Given the description of an element on the screen output the (x, y) to click on. 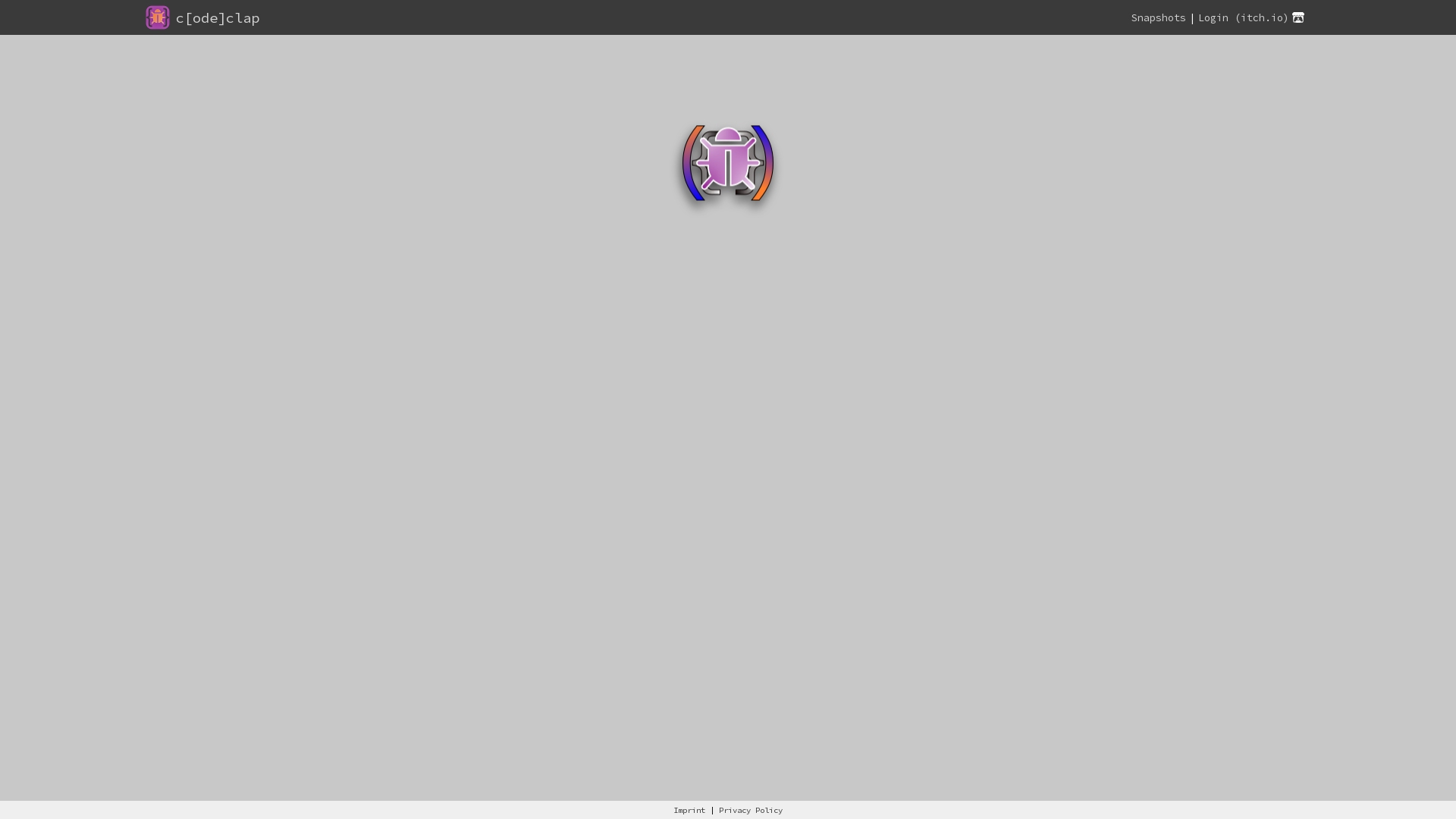
Login (itch.io) Element type: text (1252, 16)
Snapshots Element type: text (1158, 16)
Imprint Element type: text (689, 810)
c[ode]clap Element type: text (217, 17)
Privacy Policy Element type: text (750, 810)
